Given the description of an element on the screen output the (x, y) to click on. 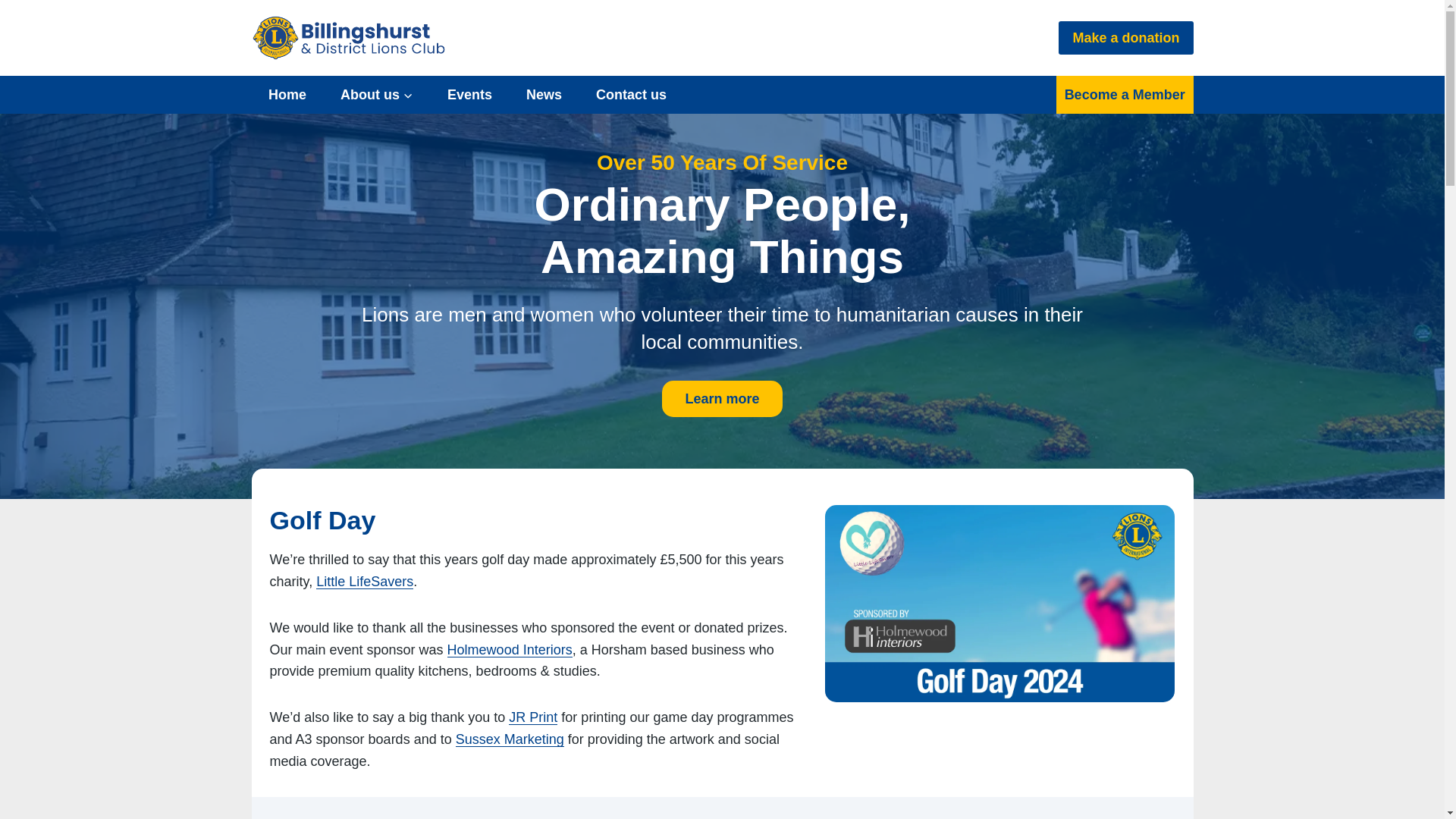
The Lions Annual Golf Day - 24th May 2024 (999, 603)
Home (287, 94)
Make a donation (1125, 37)
Events (469, 94)
Learn more (721, 398)
Sussex Marketing (509, 739)
JR Print (532, 717)
About us (376, 94)
Holmewood Interiors (509, 649)
Little LifeSavers (364, 581)
Become a Member (1125, 94)
Contact us (631, 94)
News (544, 94)
